Given the description of an element on the screen output the (x, y) to click on. 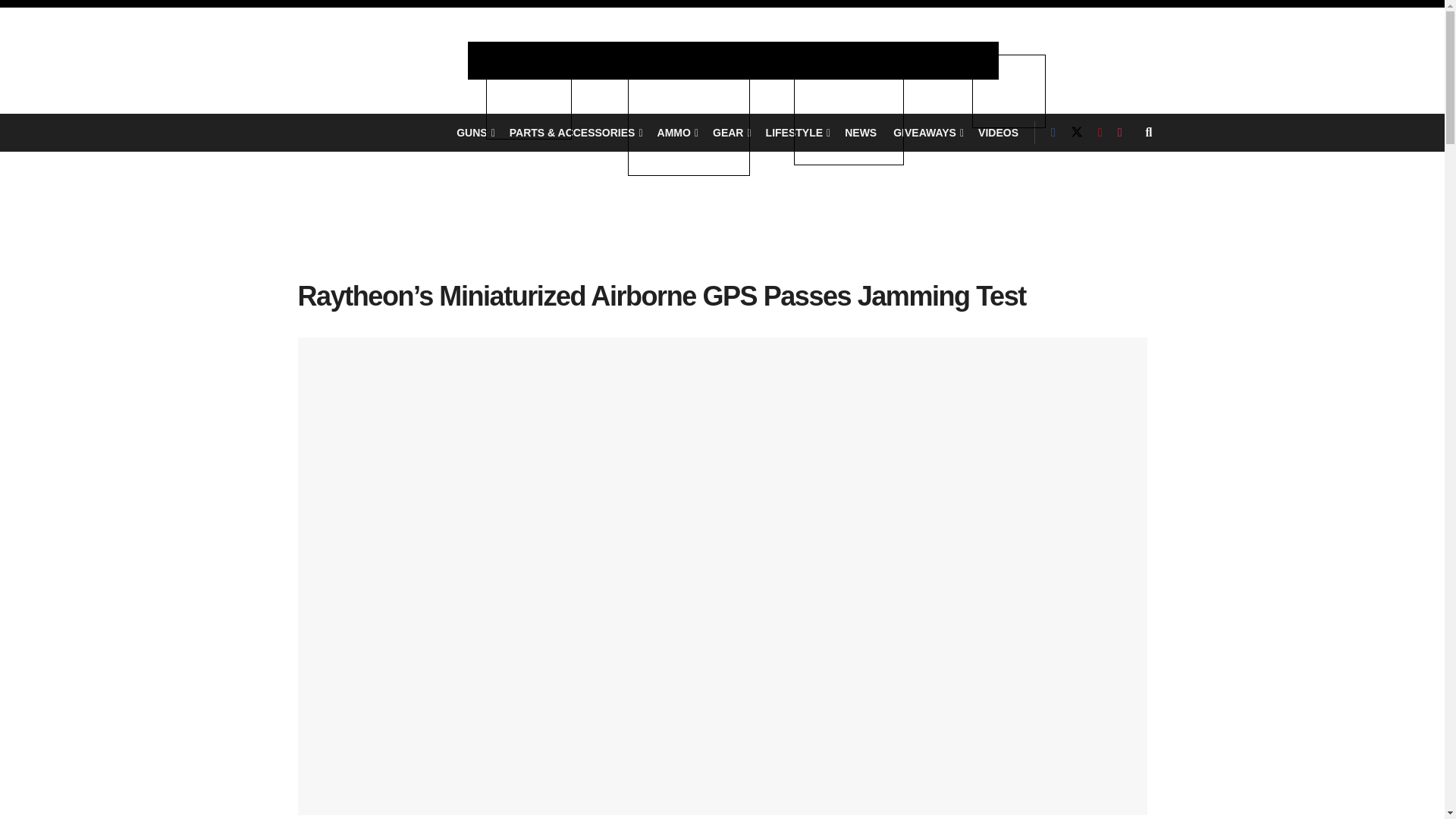
3rd party ad content (722, 232)
AMMO (676, 132)
GEAR (731, 132)
GUNS (475, 132)
